Given the description of an element on the screen output the (x, y) to click on. 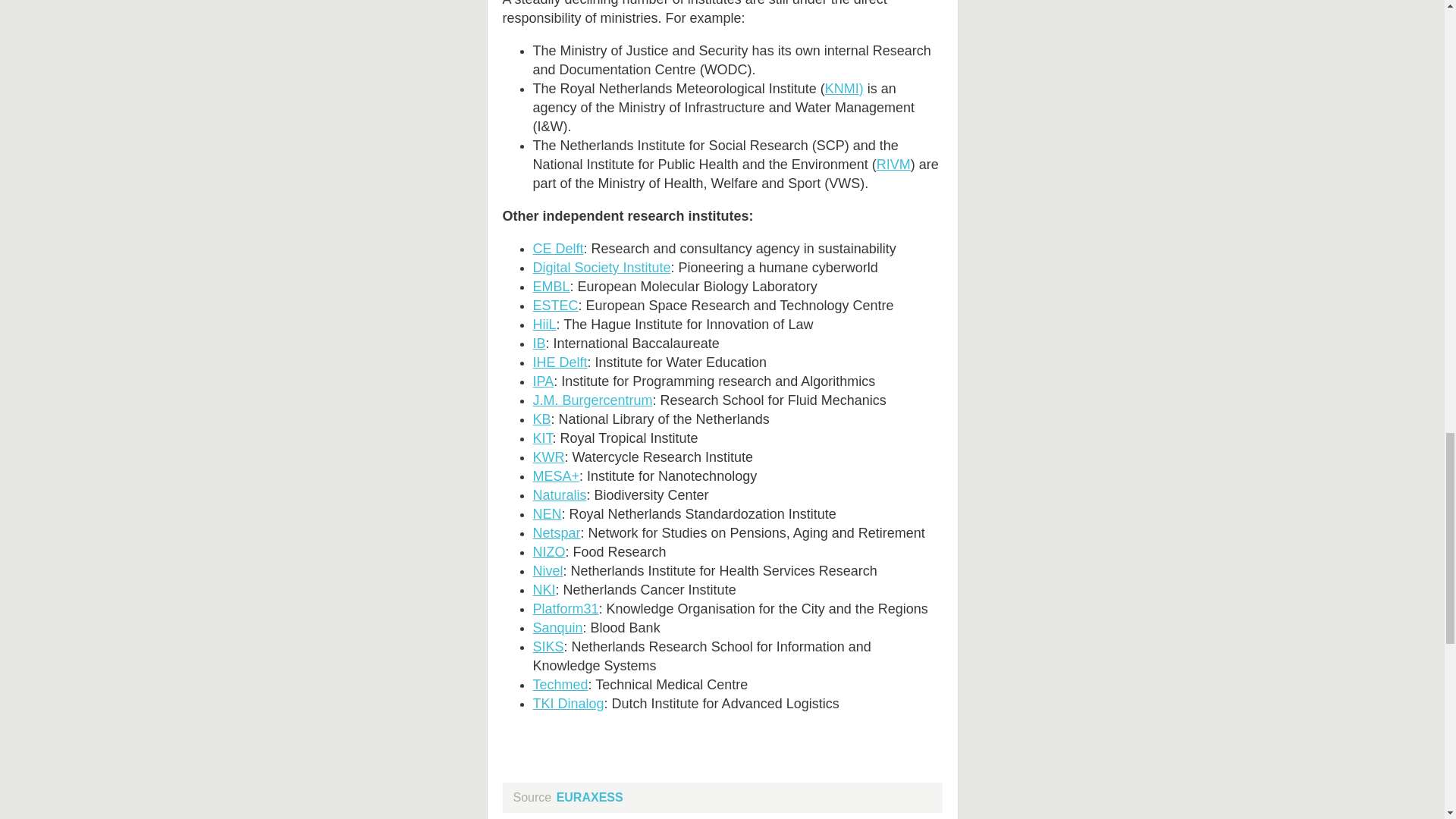
Open in new window (557, 248)
Open in new window (600, 267)
Open in new window (842, 88)
Open in new window (893, 164)
